Given the description of an element on the screen output the (x, y) to click on. 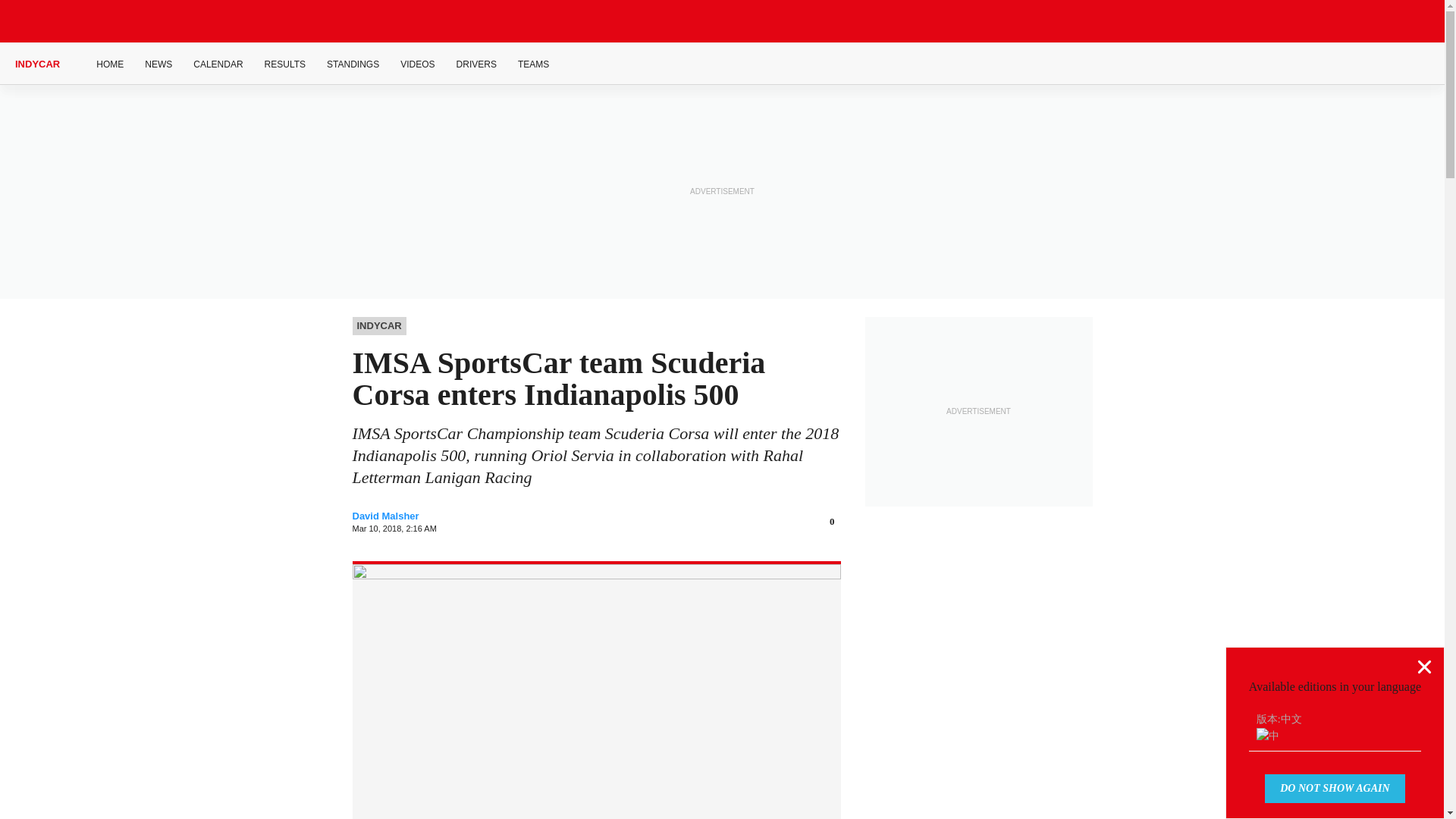
RESULTS (284, 64)
CALENDAR (218, 64)
STANDINGS (352, 64)
DRIVERS (476, 64)
